Given the description of an element on the screen output the (x, y) to click on. 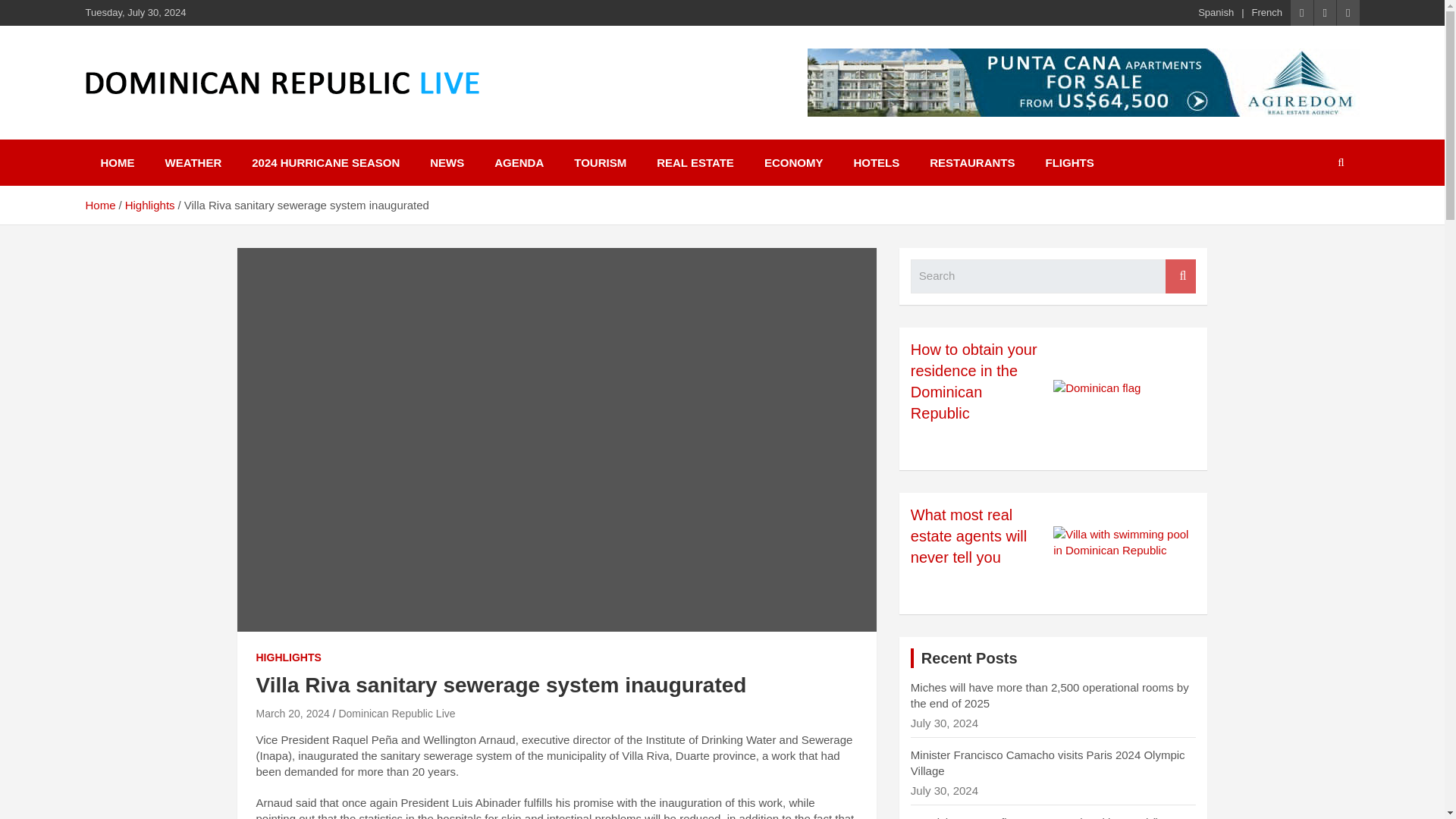
RESTAURANTS (971, 162)
TOURISM (600, 162)
Villa Riva sanitary sewerage system inaugurated (293, 713)
FLIGHTS (1068, 162)
REAL ESTATE (695, 162)
HOTELS (876, 162)
Logo Dominican Republic Live 2024 - DOMINICAN REPUBLIC LIVE (281, 83)
French (1267, 12)
HIGHLIGHTS (288, 657)
NEWS (446, 162)
DOMINICAN REPUBLIC LIVE (291, 113)
ECONOMY (793, 162)
Dominican Republic Live (395, 713)
Spanish (1215, 12)
WEATHER (193, 162)
